Given the description of an element on the screen output the (x, y) to click on. 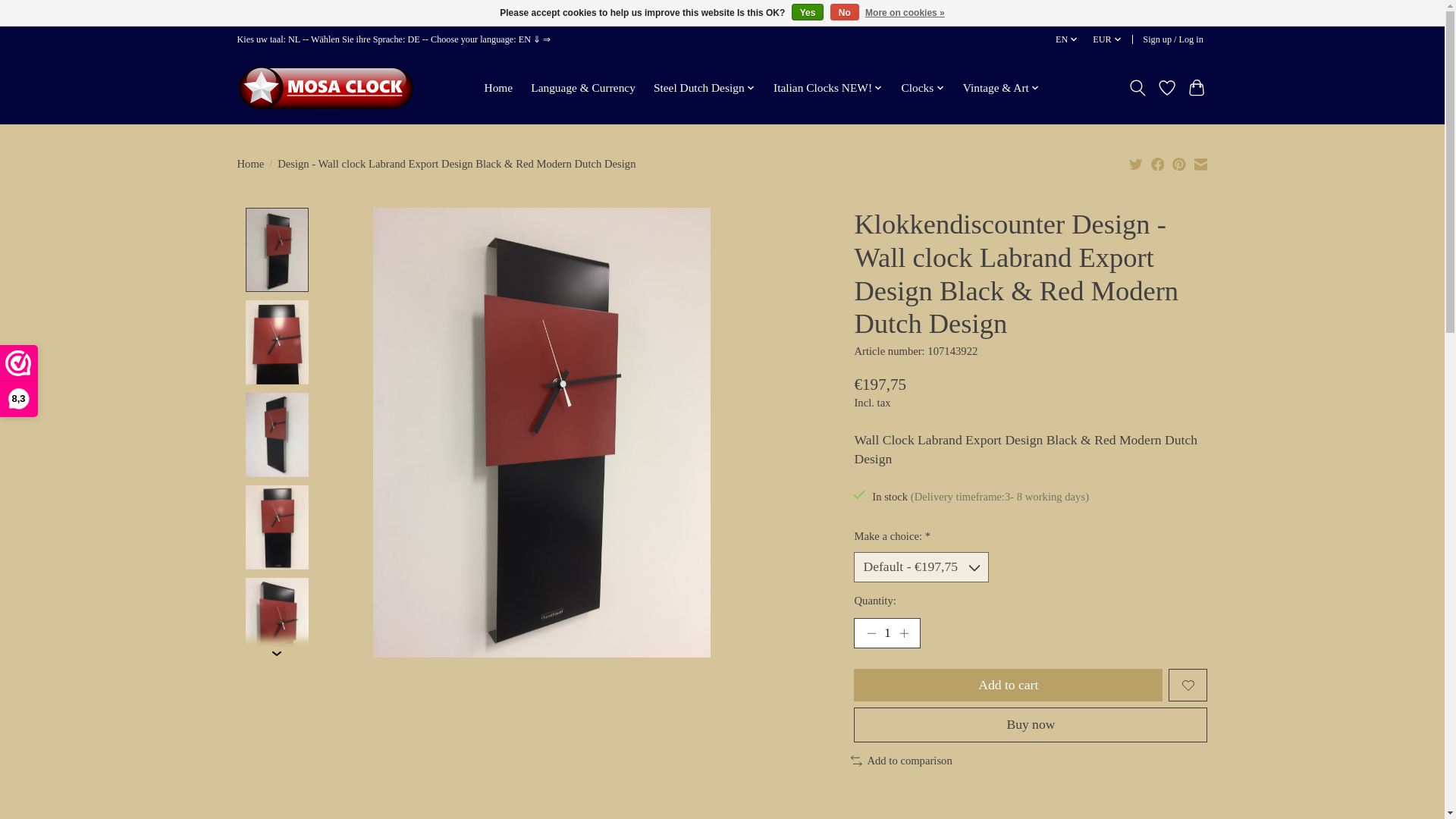
My account (1173, 39)
Italian Clocks NEW! (828, 87)
Steel Dutch Design (704, 87)
Home (498, 87)
Mosaclock (328, 87)
EN (1067, 39)
1 (886, 633)
EUR (1107, 39)
